Given the description of an element on the screen output the (x, y) to click on. 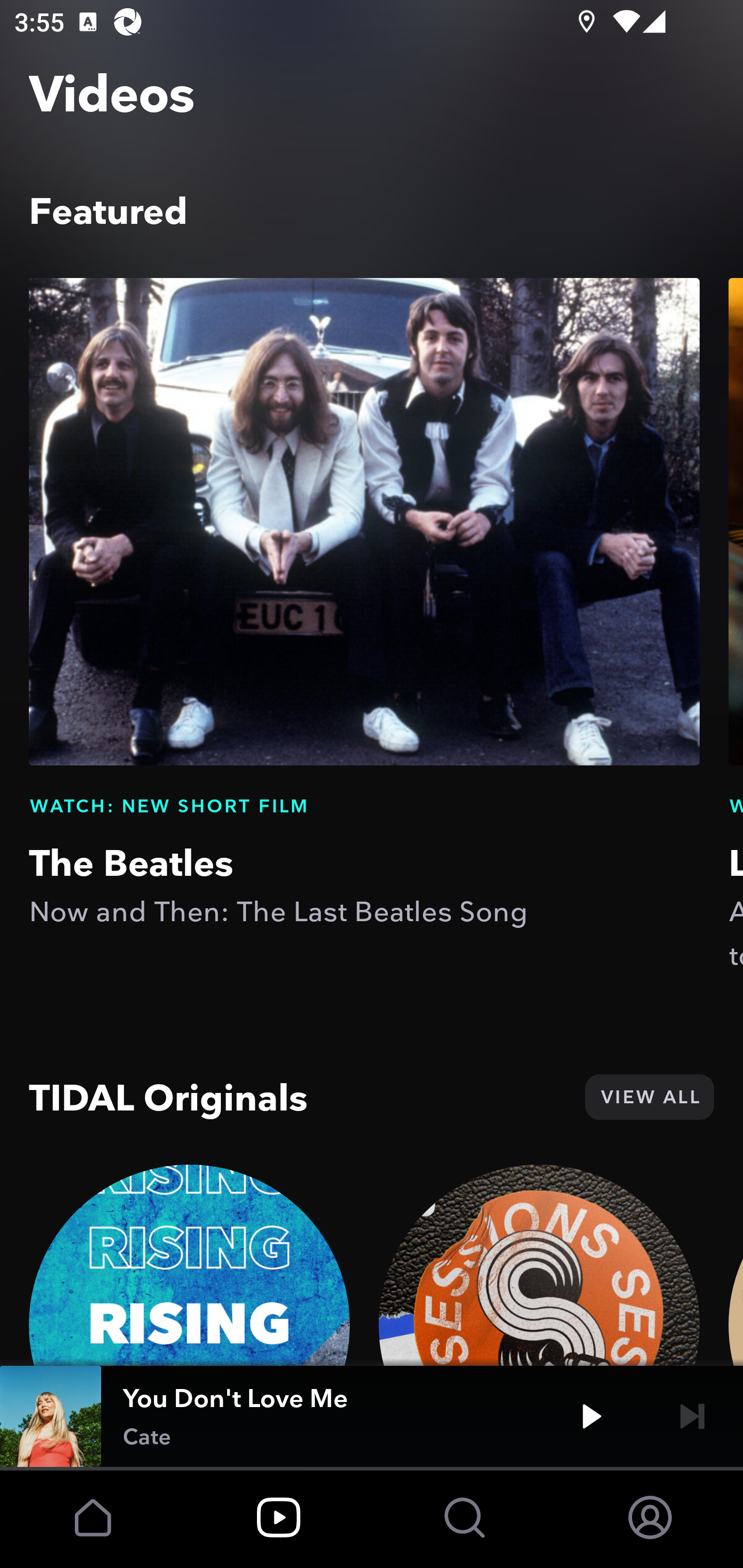
VIEW ALL (649, 1096)
You Don't Love Me Cate Play (371, 1416)
Play (590, 1416)
